Given the description of an element on the screen output the (x, y) to click on. 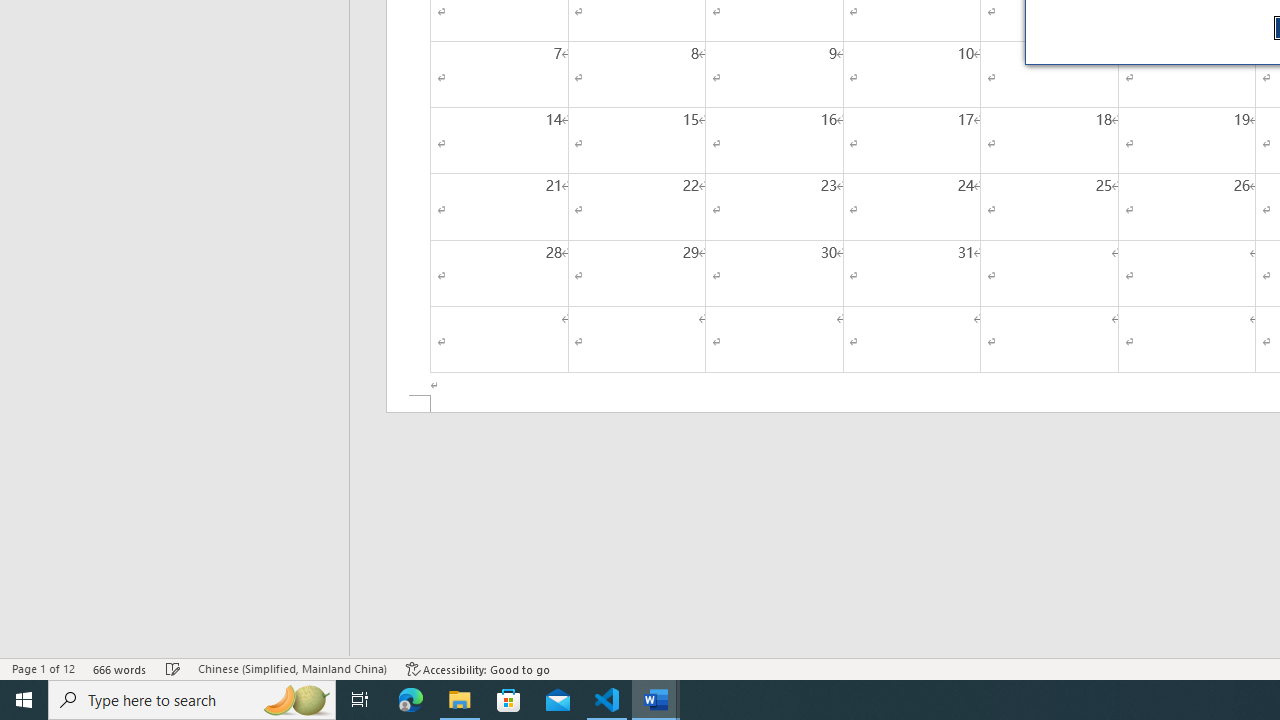
File Explorer - 1 running window (460, 699)
